Given the description of an element on the screen output the (x, y) to click on. 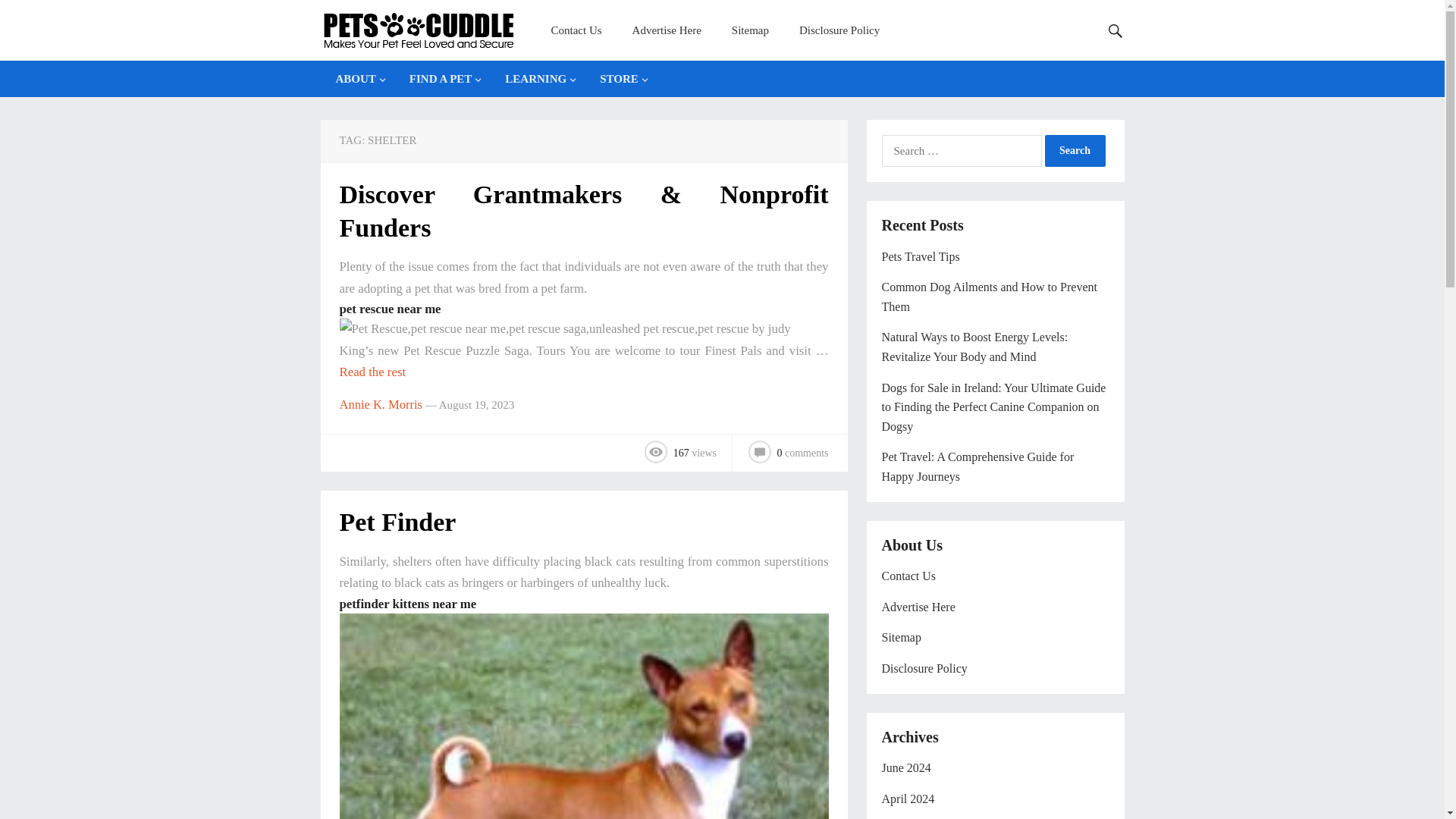
Disclosure Policy (839, 30)
FIND A PET (442, 78)
Search (1075, 151)
LEARNING (537, 78)
ABOUT (356, 78)
Search (1075, 151)
Read the rest (372, 371)
Advertise Here (666, 30)
STORE (620, 78)
Posts by Annie K. Morris (381, 404)
